Given the description of an element on the screen output the (x, y) to click on. 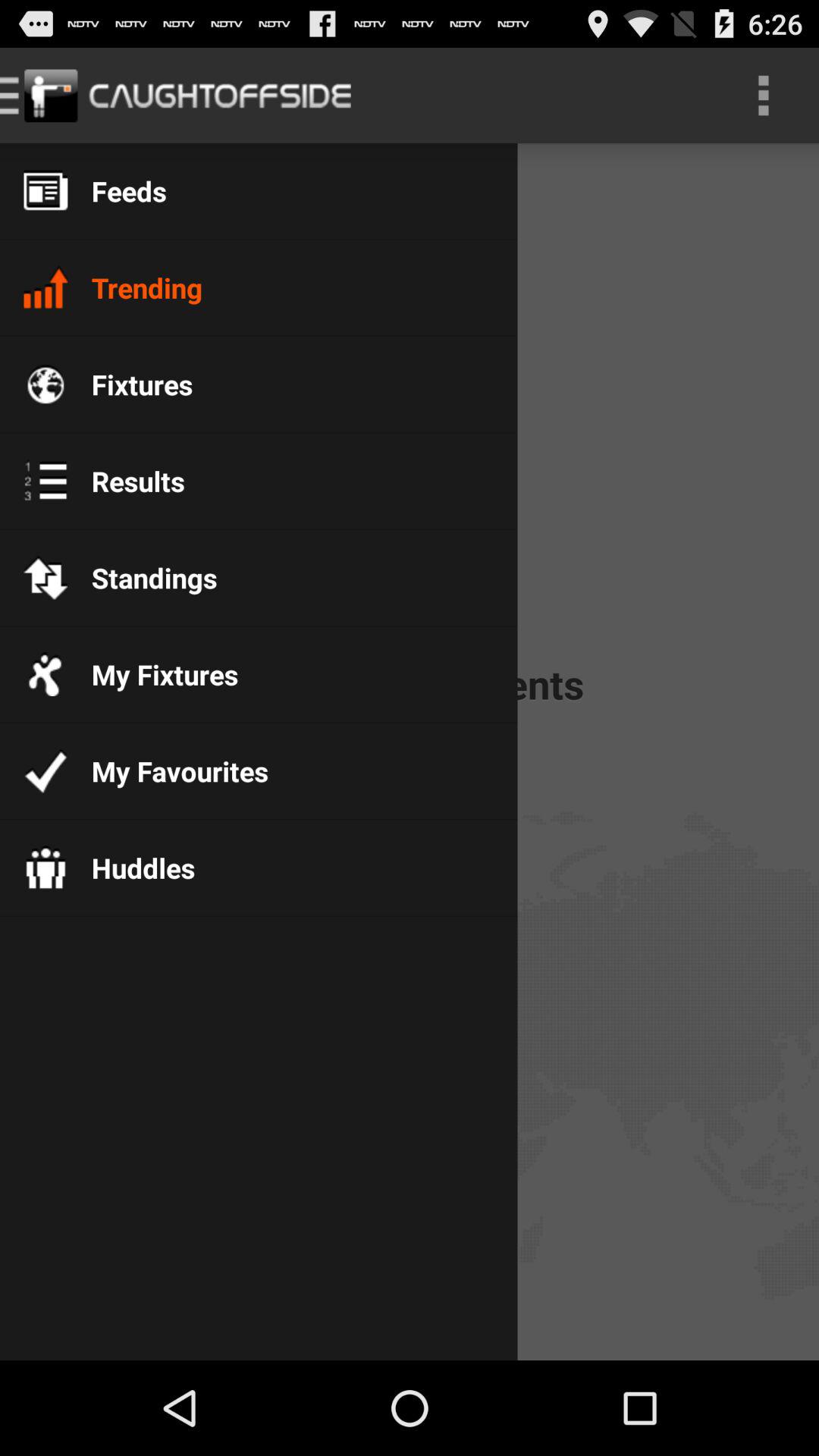
swipe until results app (125, 480)
